Given the description of an element on the screen output the (x, y) to click on. 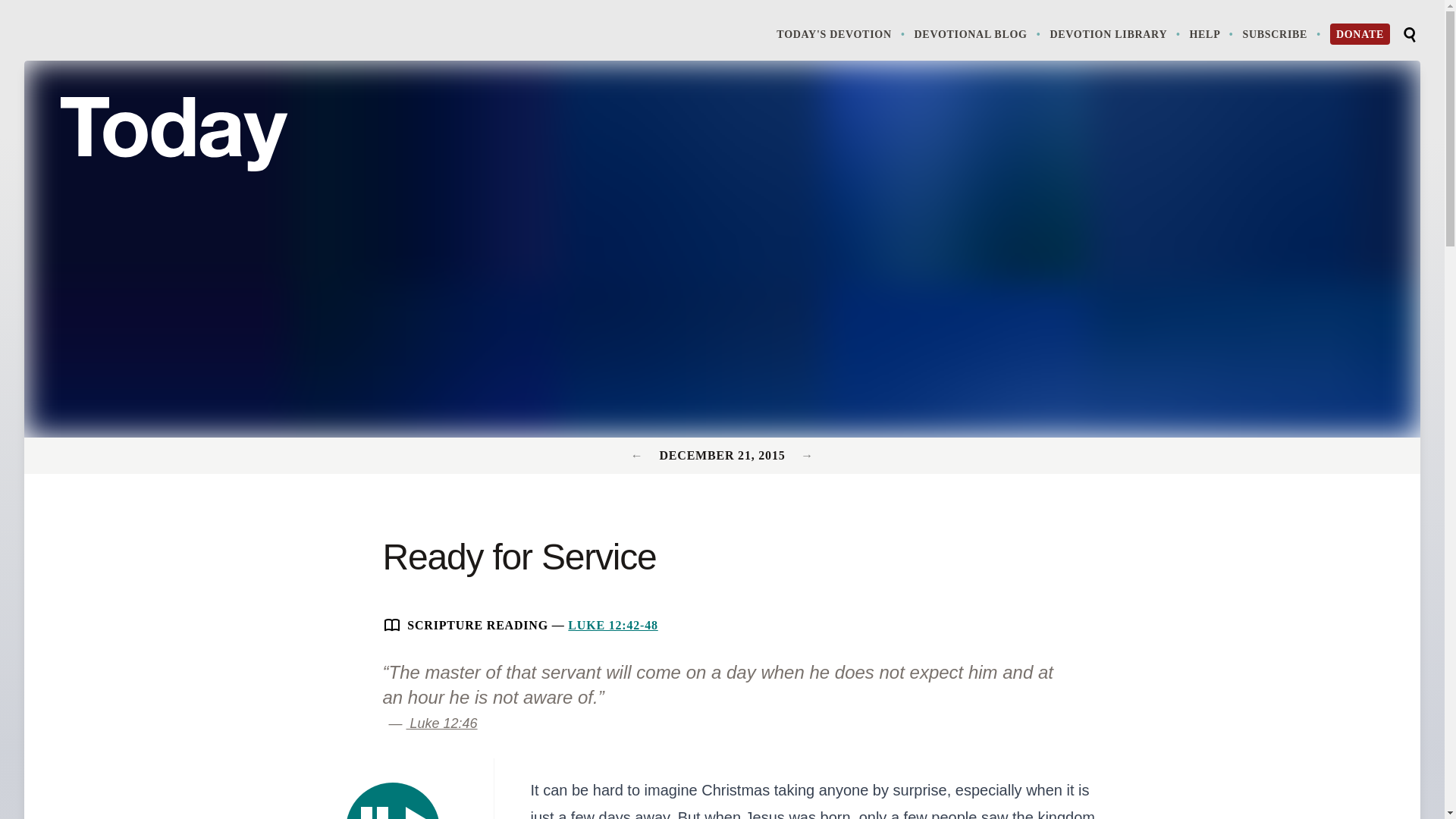
DONATE (1360, 34)
Search (1409, 34)
LUKE 12:42-48 (612, 625)
DEVOTION LIBRARY (1115, 34)
DEVOTIONAL BLOG (978, 34)
Previous Devotion: December 20, 2015 (638, 454)
Previous Devotion: December 22, 2015 (806, 454)
Luke 12:46 (441, 723)
SUBSCRIBE (1282, 34)
TODAY'S DEVOTION (841, 34)
